Given the description of an element on the screen output the (x, y) to click on. 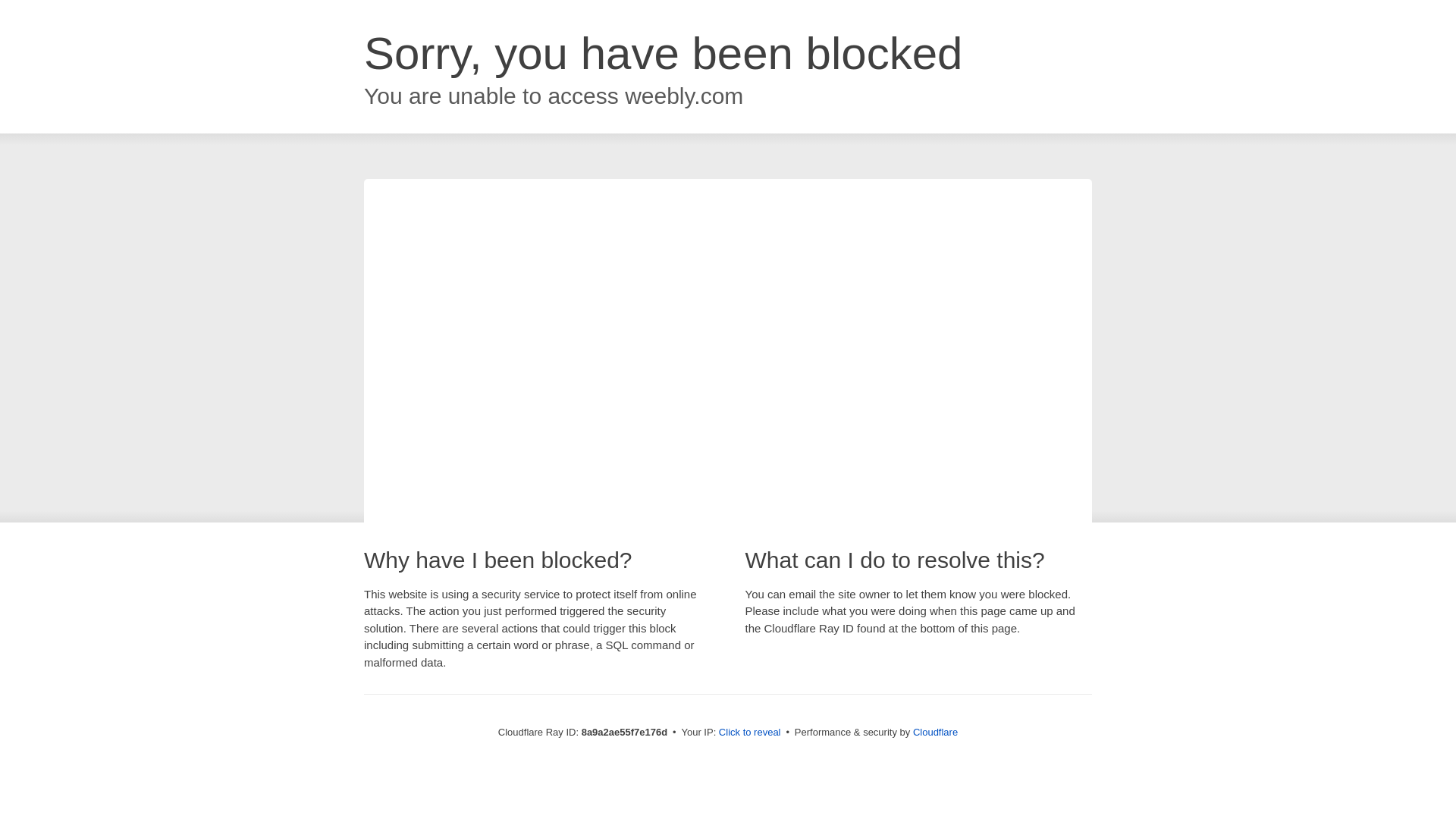
Click to reveal (749, 732)
Cloudflare (935, 731)
